Given the description of an element on the screen output the (x, y) to click on. 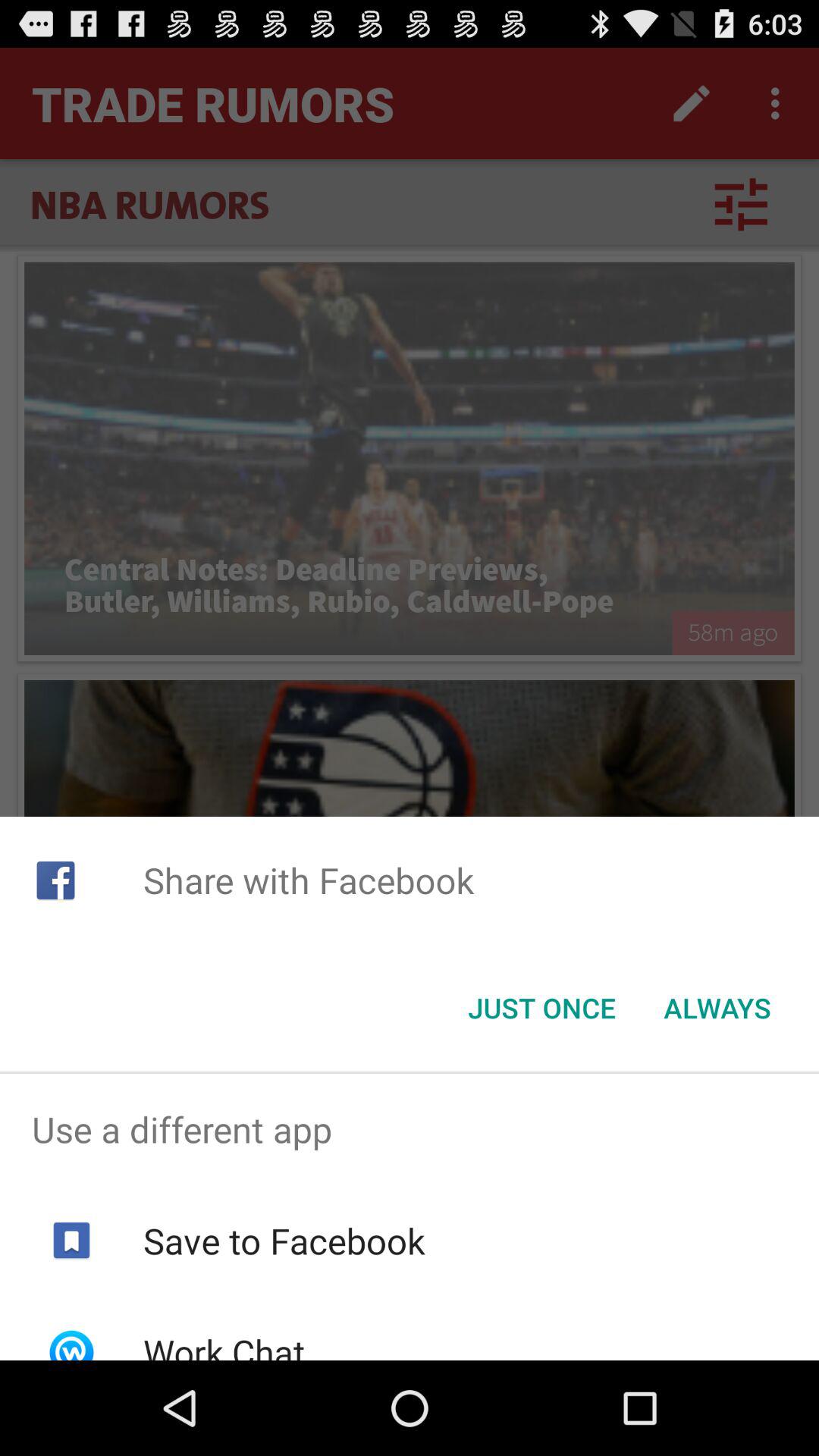
flip until the work chat app (223, 1344)
